Given the description of an element on the screen output the (x, y) to click on. 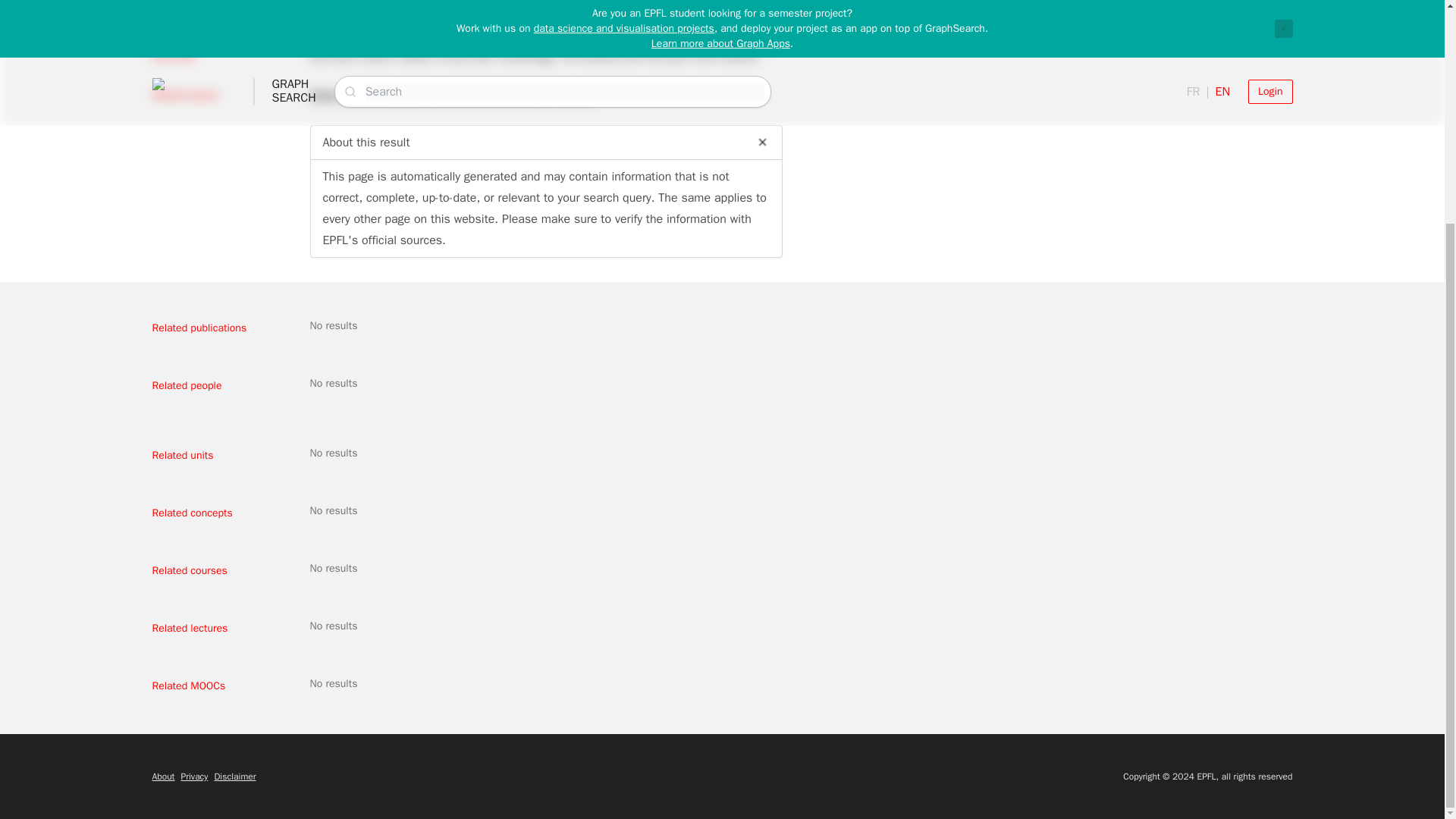
Privacy (194, 776)
About (162, 776)
Disclaimer (235, 776)
